Given the description of an element on the screen output the (x, y) to click on. 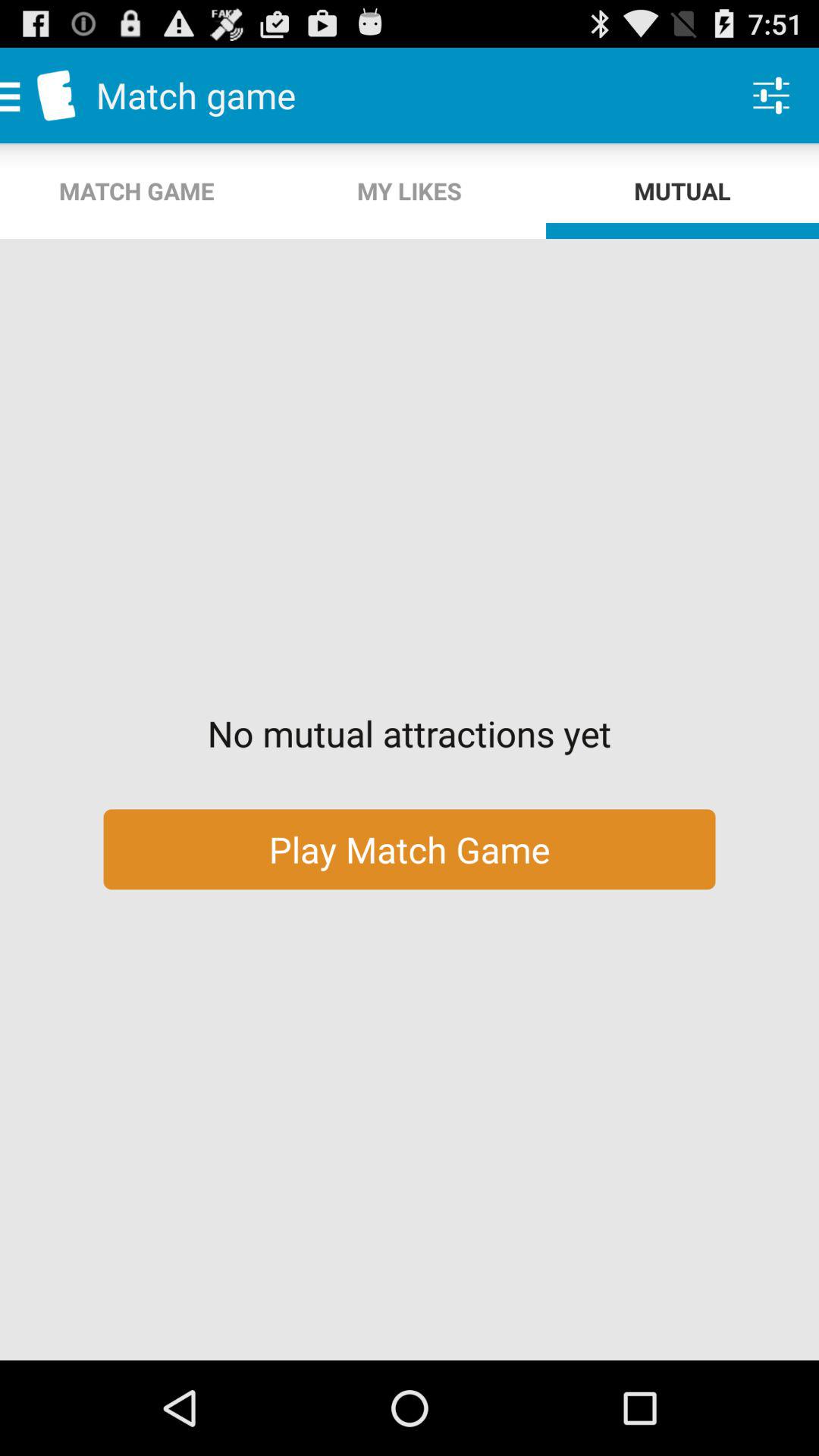
press the icon to the right of the match game (409, 190)
